Given the description of an element on the screen output the (x, y) to click on. 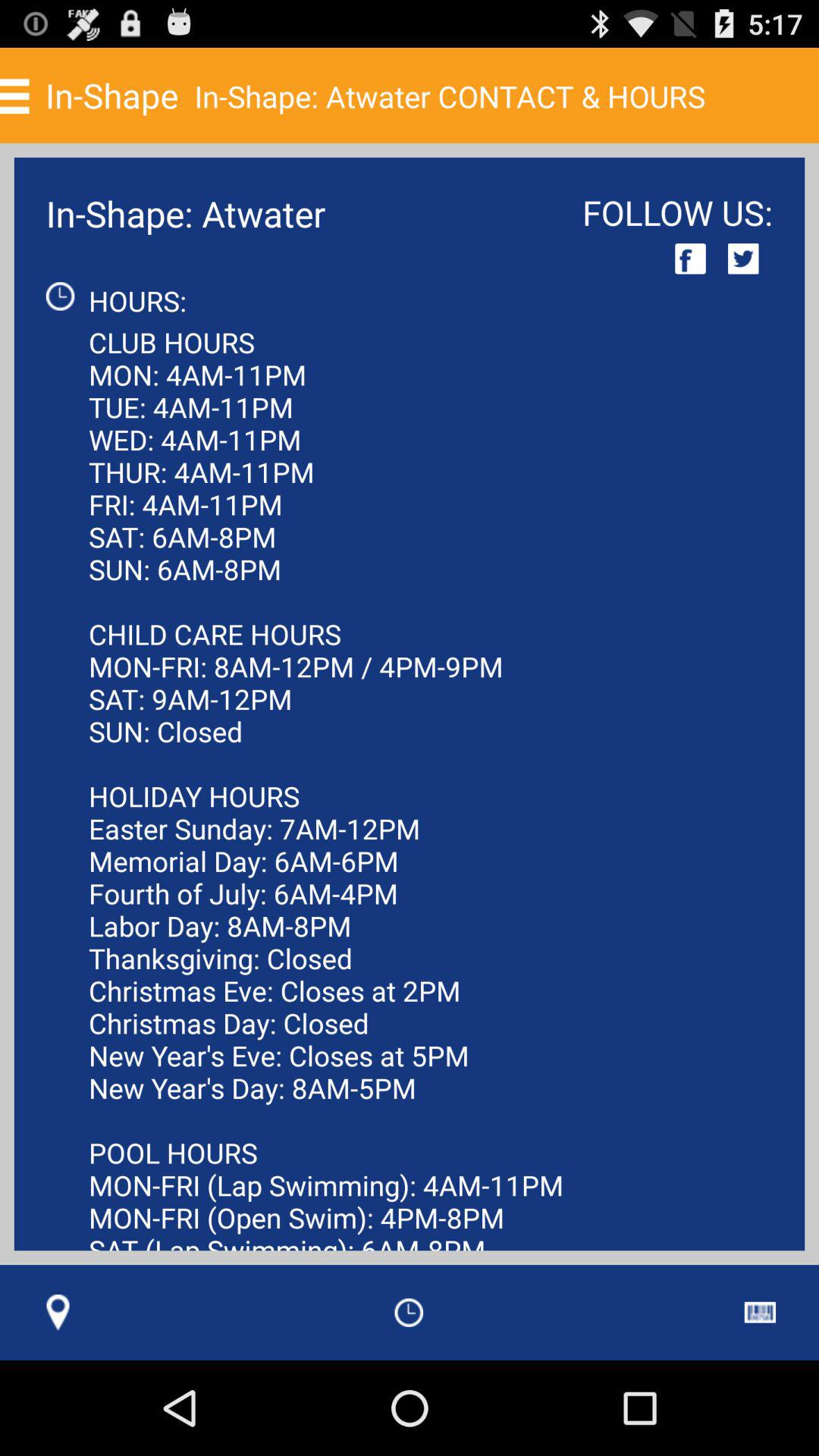
click item at the bottom (408, 1312)
